Given the description of an element on the screen output the (x, y) to click on. 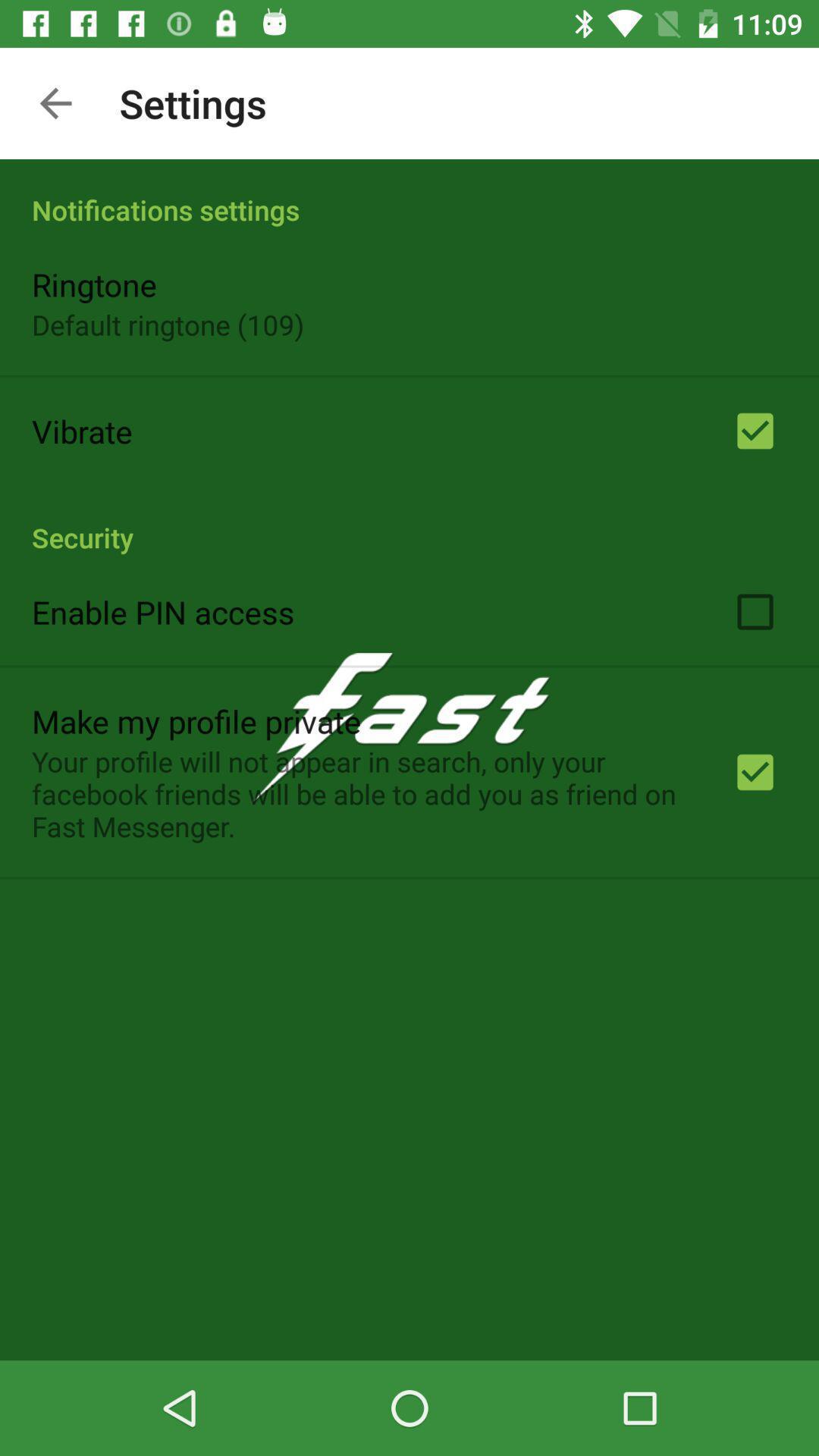
click the item above the notifications settings app (55, 103)
